Given the description of an element on the screen output the (x, y) to click on. 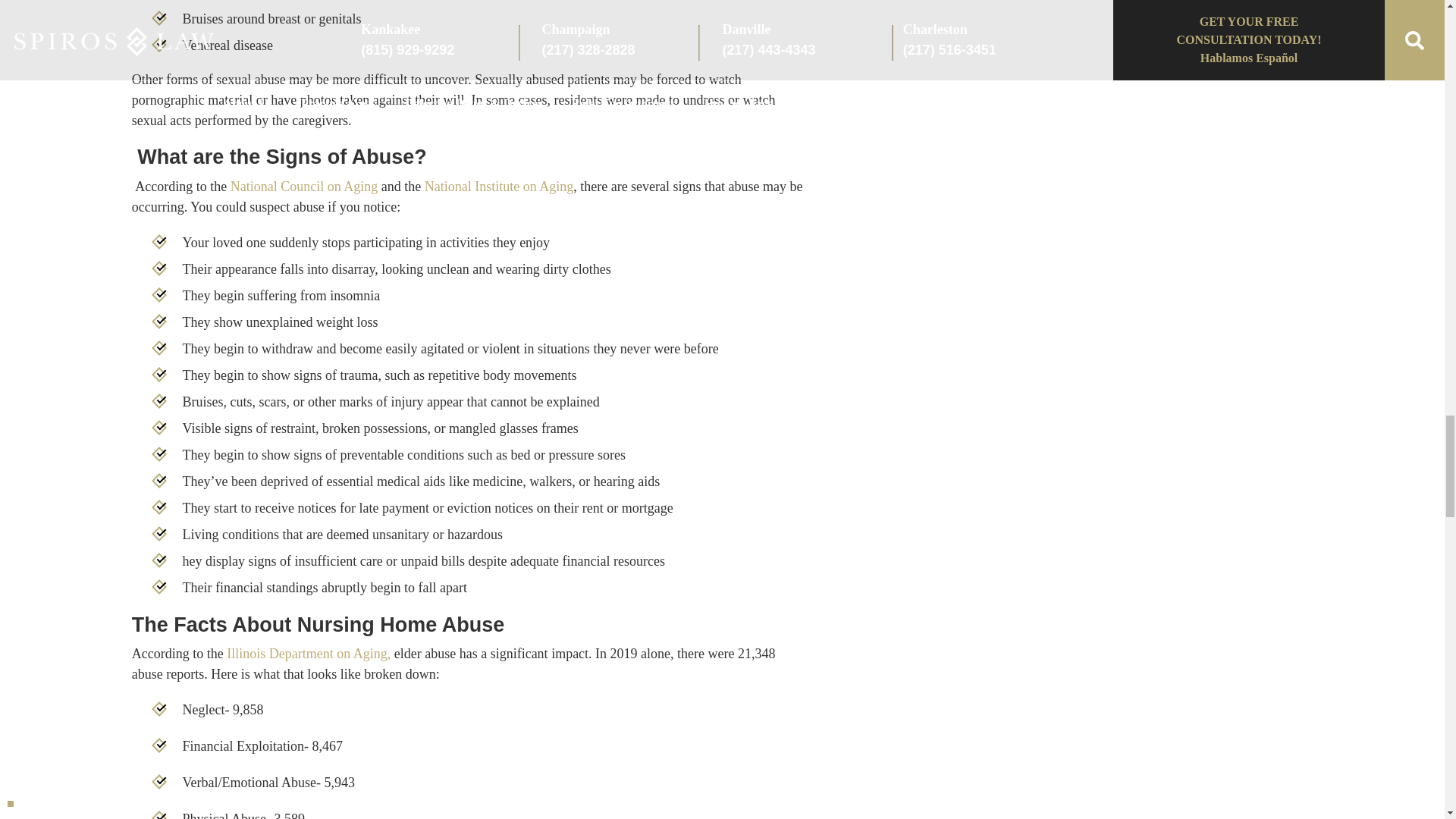
National Institute on Aging (499, 186)
National Council on Aging (303, 186)
Illinois Department on Aging, (308, 653)
